Given the description of an element on the screen output the (x, y) to click on. 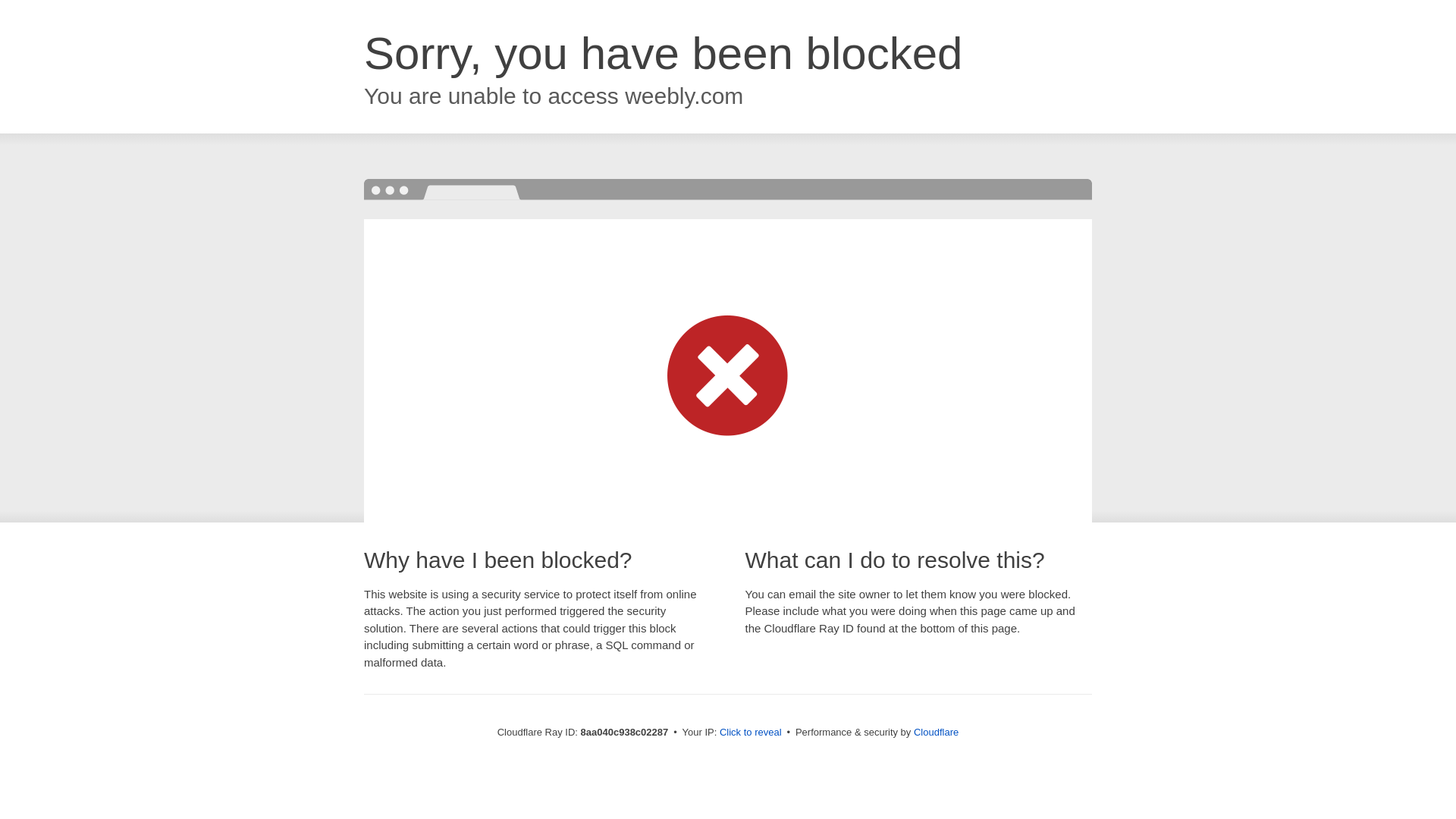
Click to reveal (750, 732)
Cloudflare (936, 731)
